Given the description of an element on the screen output the (x, y) to click on. 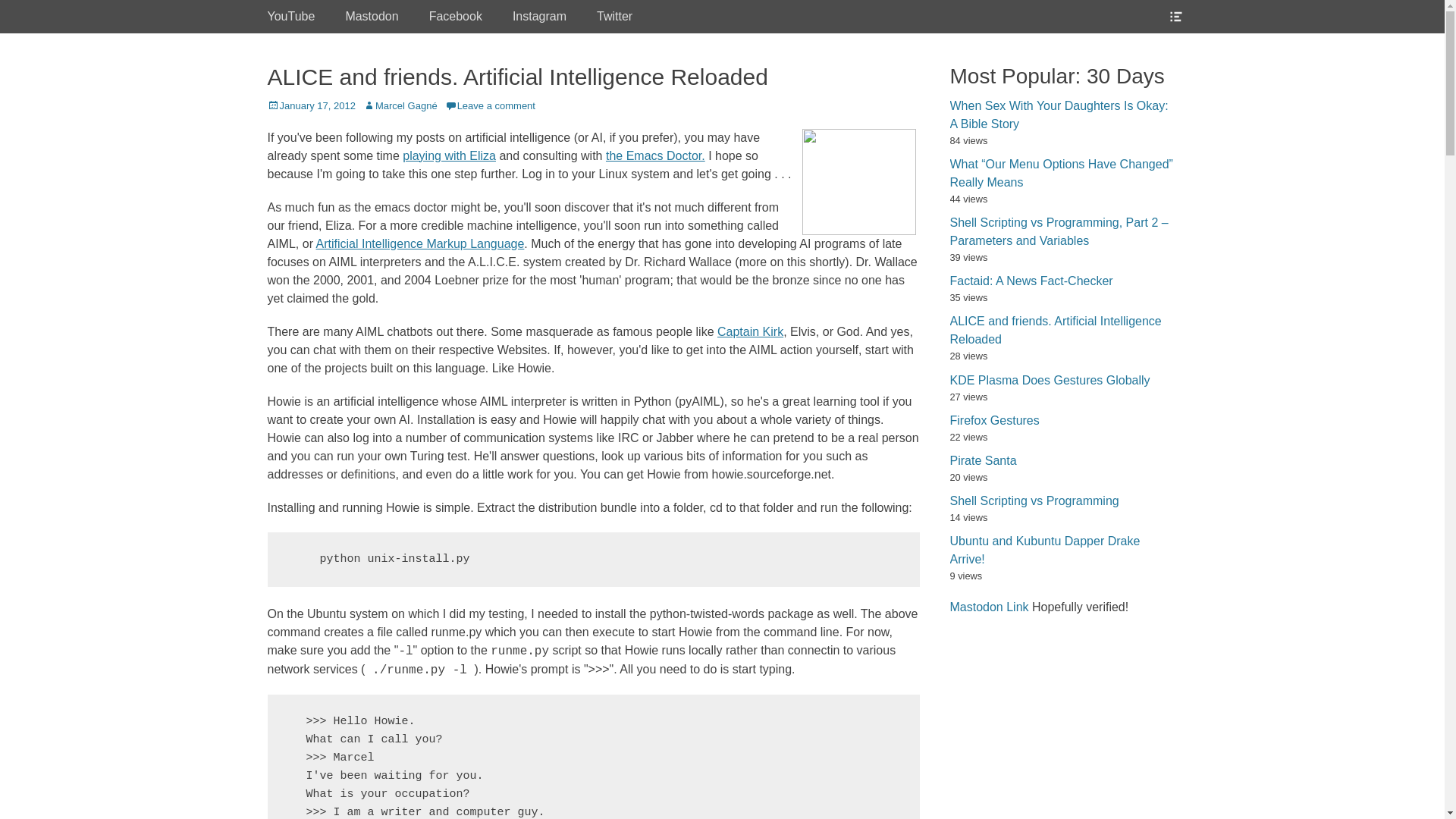
Shell Scripting vs Programming (1033, 500)
playing with Eliza (449, 154)
Artificial Intelligence Markup Language (419, 242)
the Emacs Doctor. (654, 154)
Leave a comment (490, 105)
Firefox Gestures (994, 420)
Pirate Santa (982, 460)
Facebook (455, 16)
Factaid: A News Fact-Checker (1030, 280)
Mastodon (371, 16)
YouTube (290, 16)
KDE Plasma Does Gestures Globally (1049, 379)
January 17, 2012 (310, 105)
Captain Kirk (750, 330)
Instagram (538, 16)
